Given the description of an element on the screen output the (x, y) to click on. 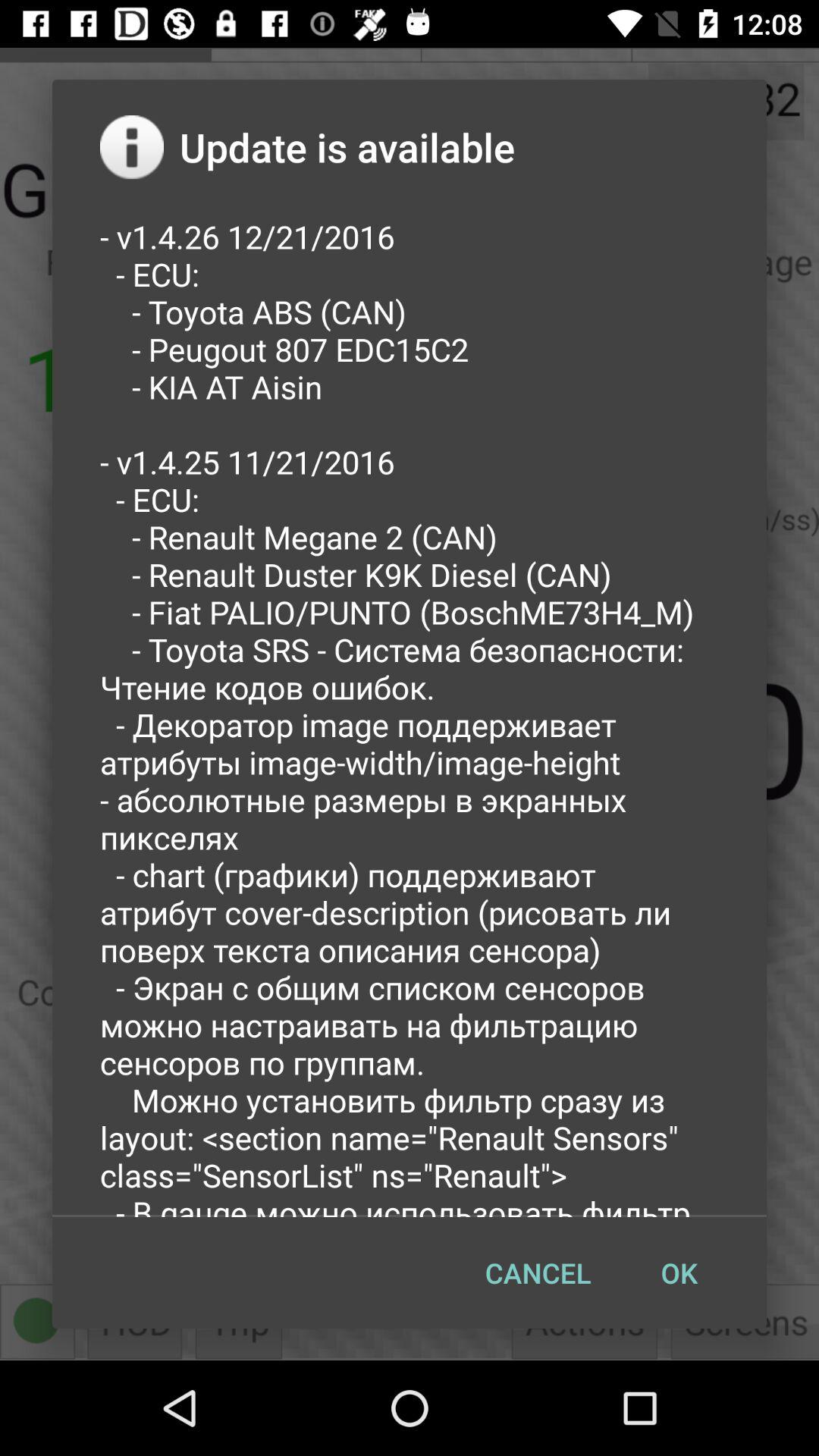
open icon below v1 4 26 item (678, 1272)
